Given the description of an element on the screen output the (x, y) to click on. 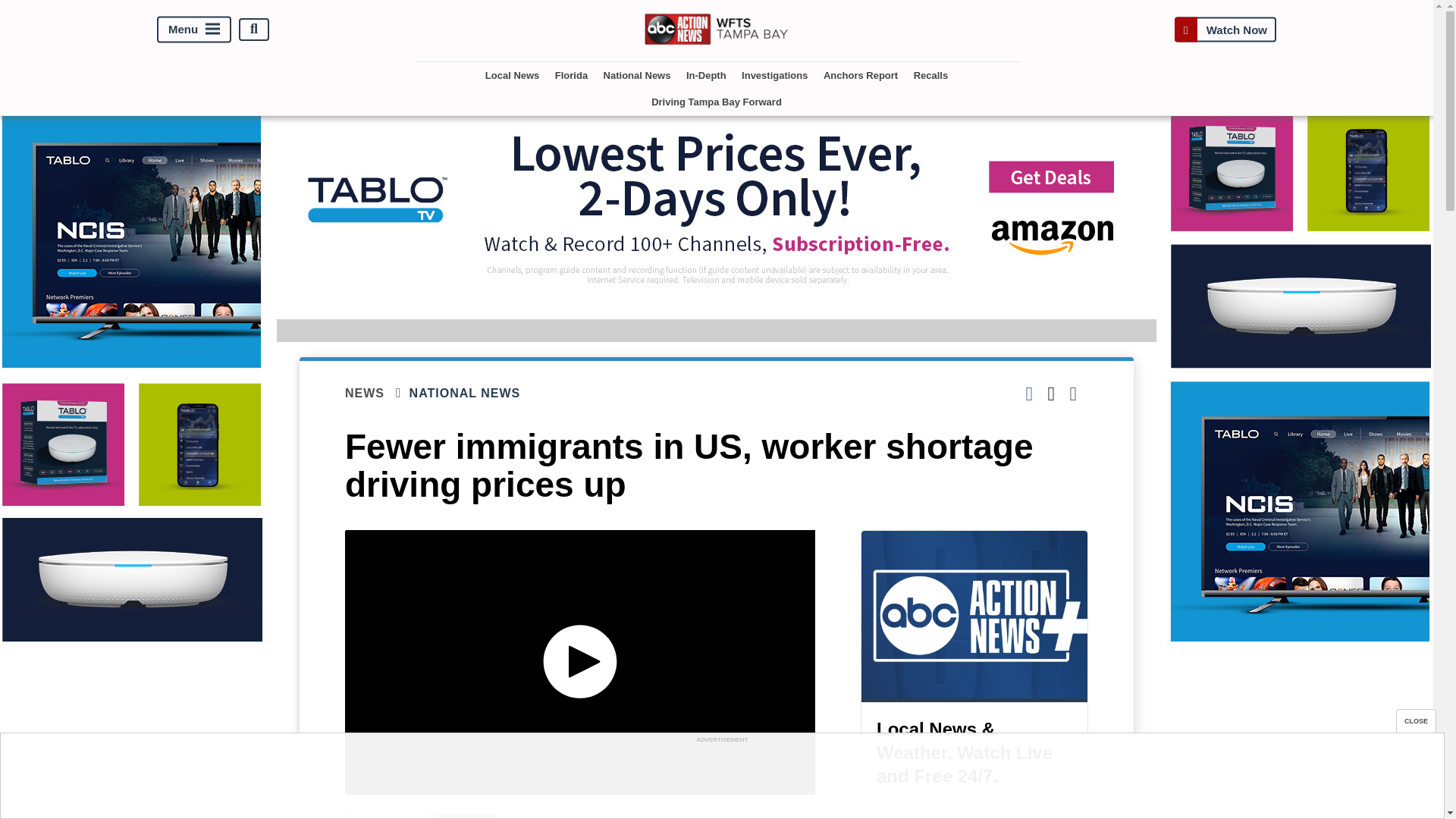
3rd party ad content (721, 780)
Menu (194, 28)
Watch Now (1224, 29)
